Given the description of an element on the screen output the (x, y) to click on. 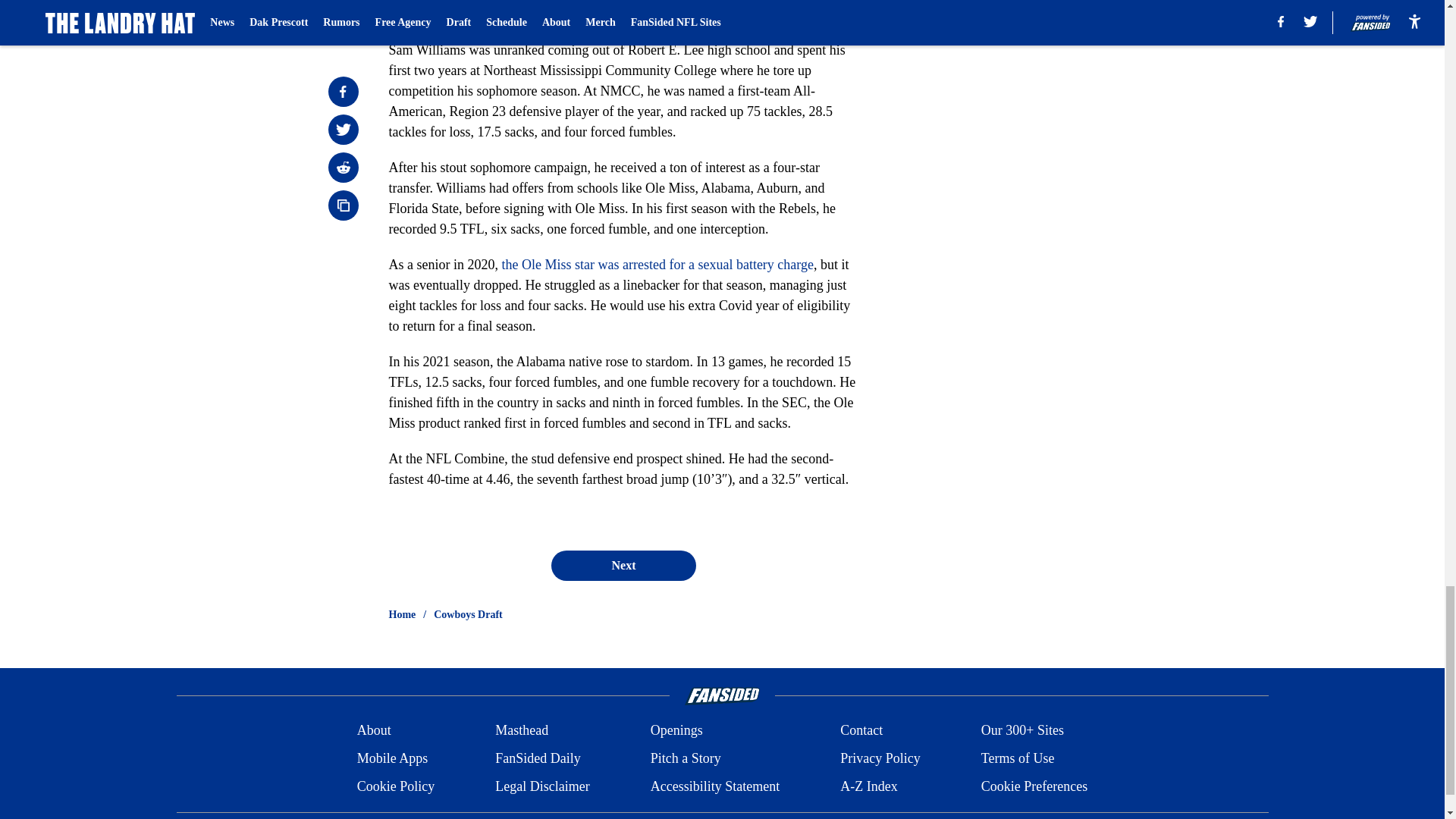
About (373, 730)
Contact (861, 730)
Next (622, 565)
Masthead (521, 730)
Openings (676, 730)
Cowboys Draft (467, 614)
Mobile Apps (392, 758)
the Ole Miss star was arrested for a sexual battery charge (656, 264)
Home (401, 614)
